Given the description of an element on the screen output the (x, y) to click on. 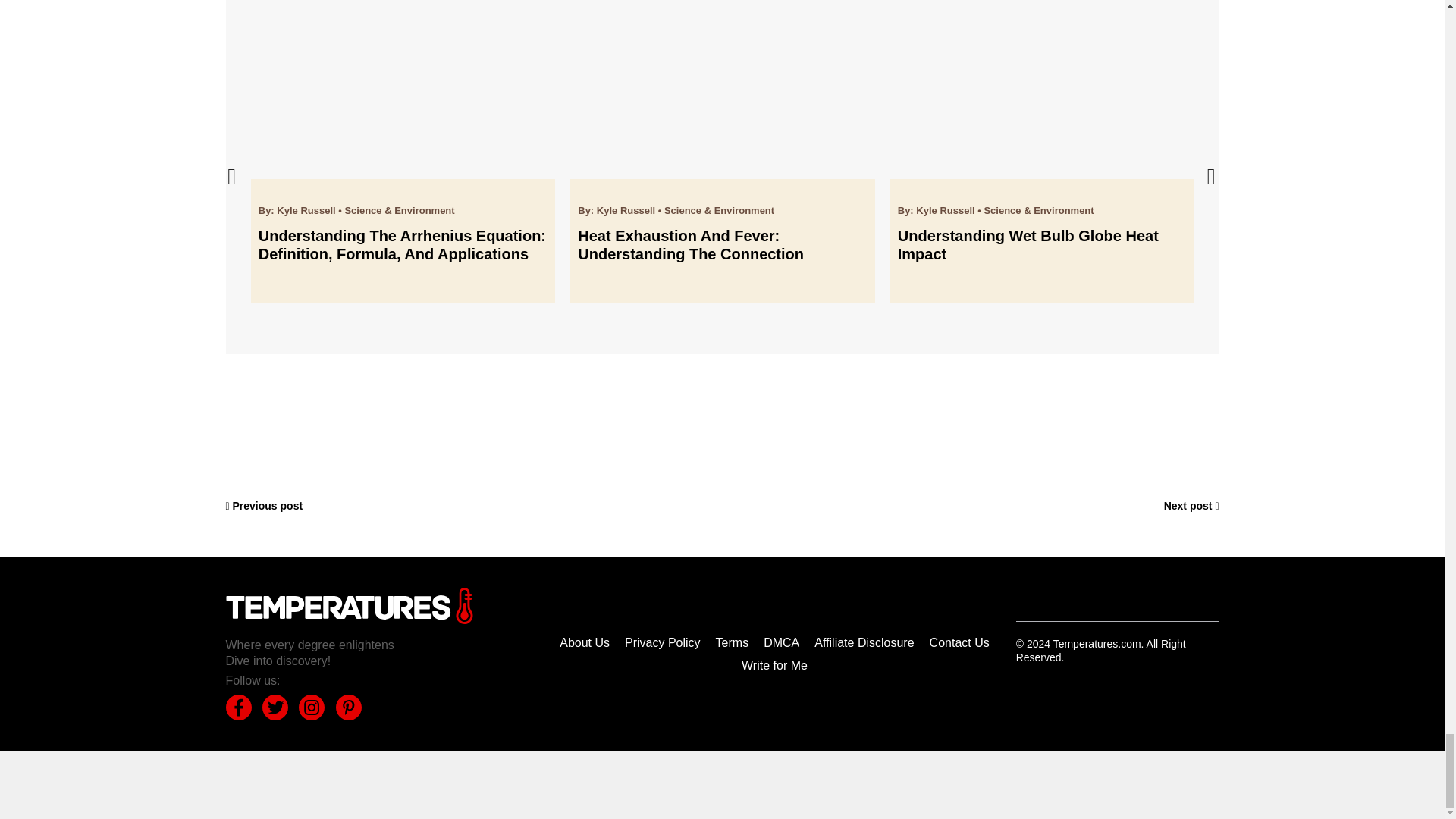
temperatures (349, 606)
